Given the description of an element on the screen output the (x, y) to click on. 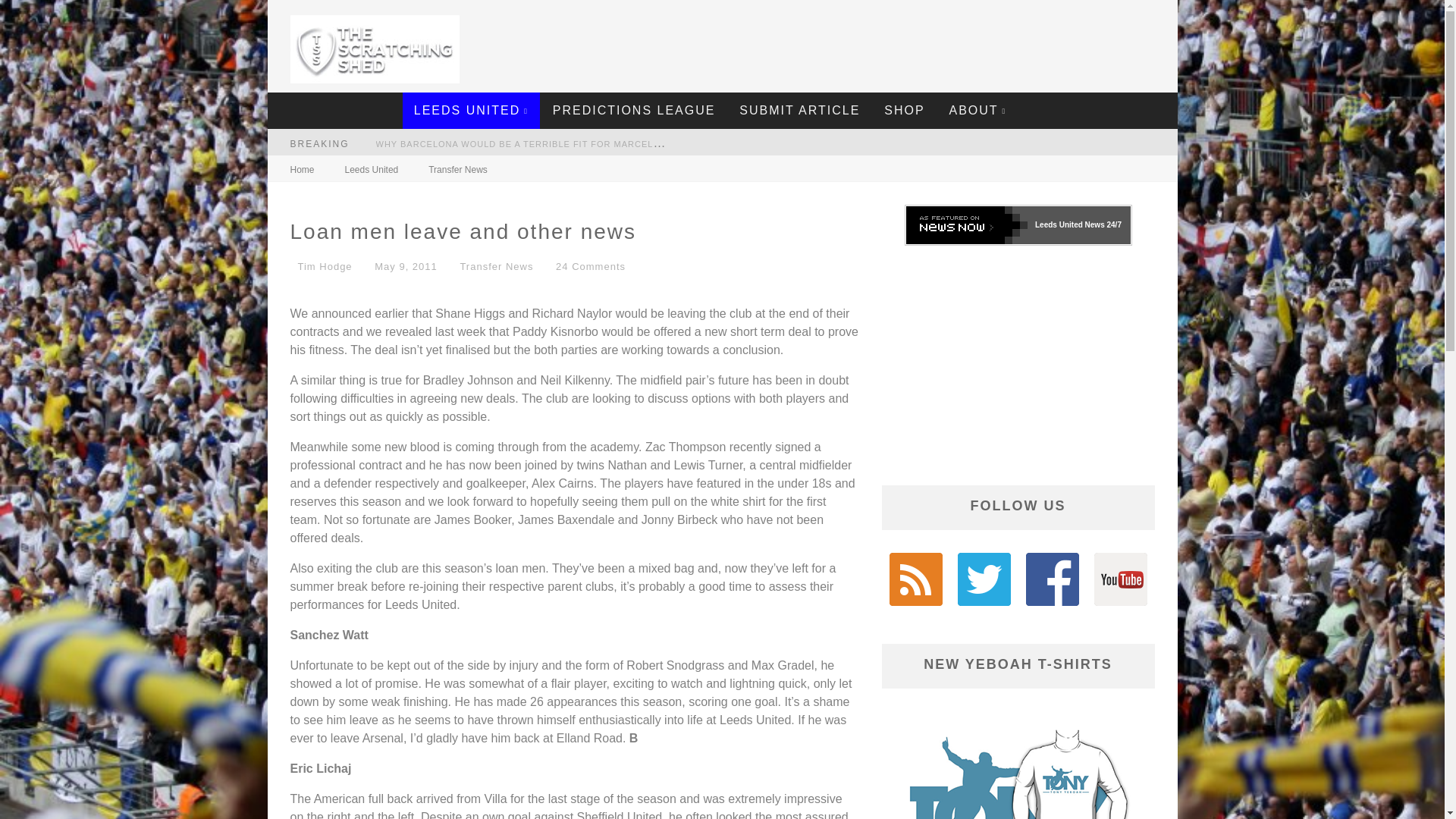
ABOUT (977, 110)
PREDICTIONS LEAGUE (633, 110)
WHY BARCELONA WOULD BE A TERRIBLE FIT FOR MARCELO BIELSA (536, 142)
View all posts in Transfer News (457, 169)
View all posts in Leeds United (371, 169)
LEEDS UNITED (471, 110)
Advertisement (893, 42)
SUBMIT ARTICLE (799, 110)
Search (1163, 100)
View all posts in Transfer News (496, 266)
SHOP (904, 110)
